Given the description of an element on the screen output the (x, y) to click on. 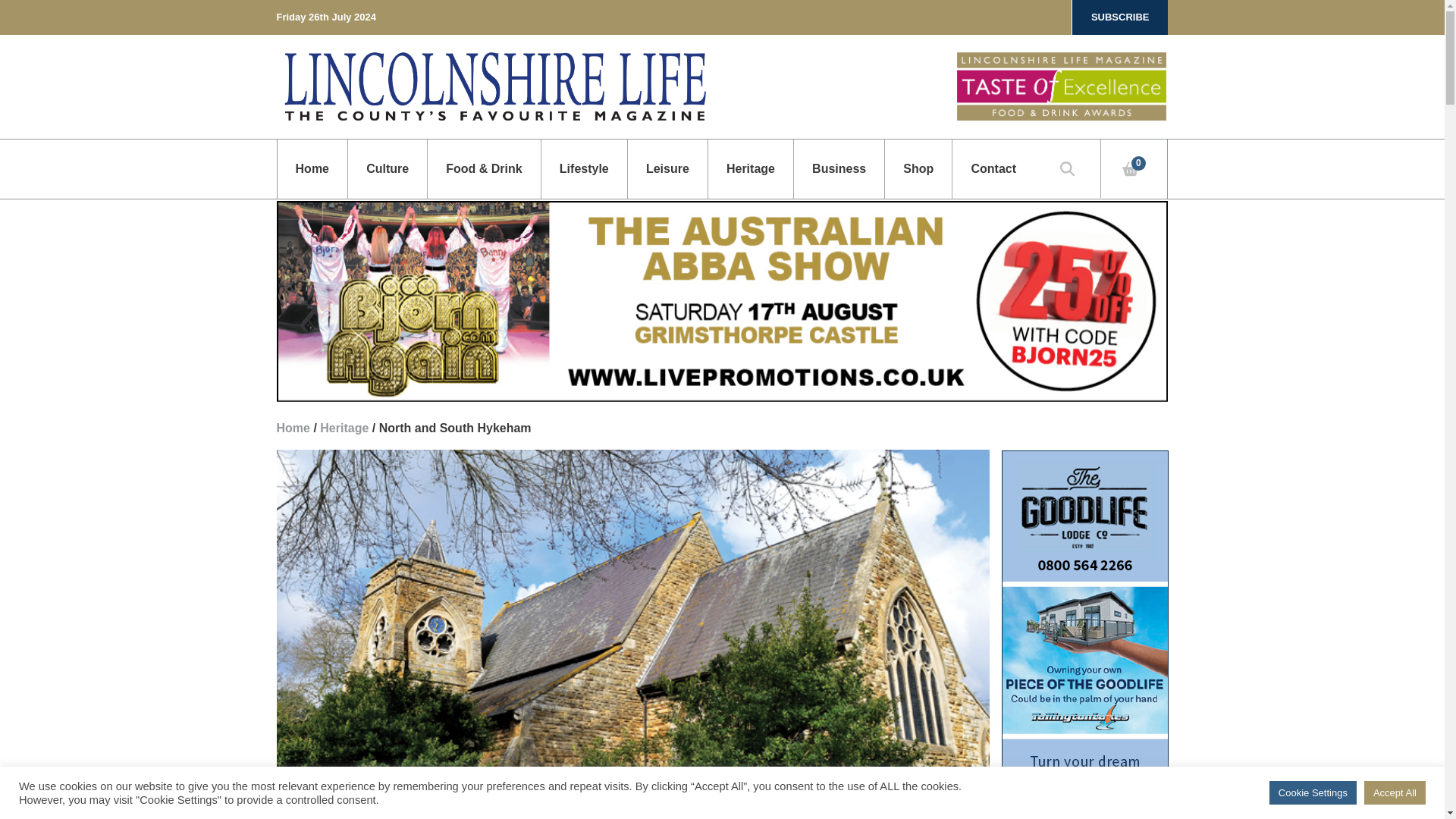
Contact (992, 169)
Lincolnshire Life (494, 85)
Culture (386, 169)
Lifestyle (584, 169)
Heritage (750, 169)
Leisure (667, 169)
Home (311, 169)
SUBSCRIBE (1120, 17)
Business (838, 169)
Shop (917, 169)
